Given the description of an element on the screen output the (x, y) to click on. 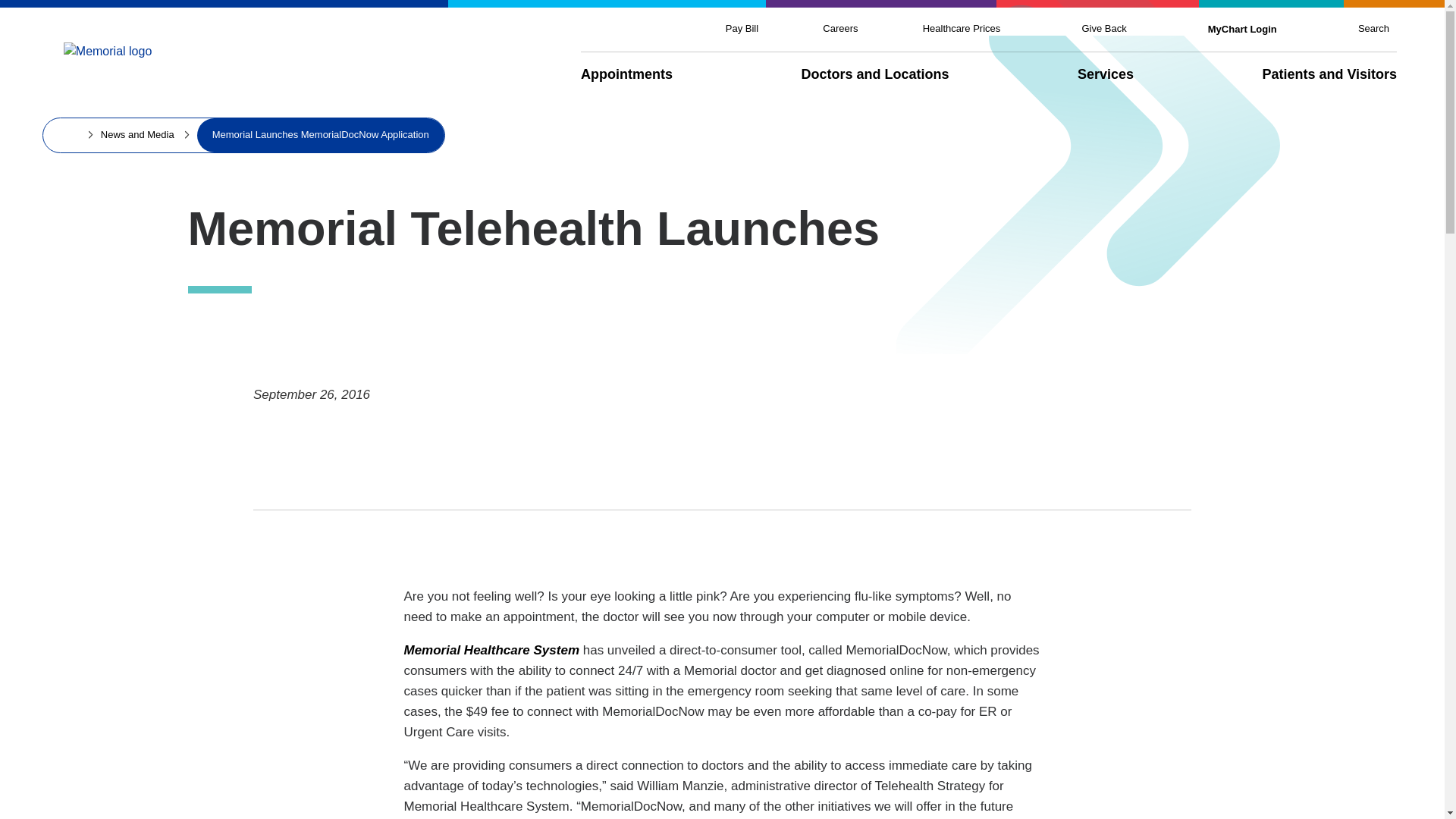
Doctors and Locations (874, 74)
Appointments (626, 74)
Services (1105, 74)
Pay Bill (741, 28)
Patients and Visitors (1329, 74)
Give Back (1103, 28)
MyChart Login (1242, 29)
Healthcare Prices (962, 28)
Search (1373, 28)
